Given the description of an element on the screen output the (x, y) to click on. 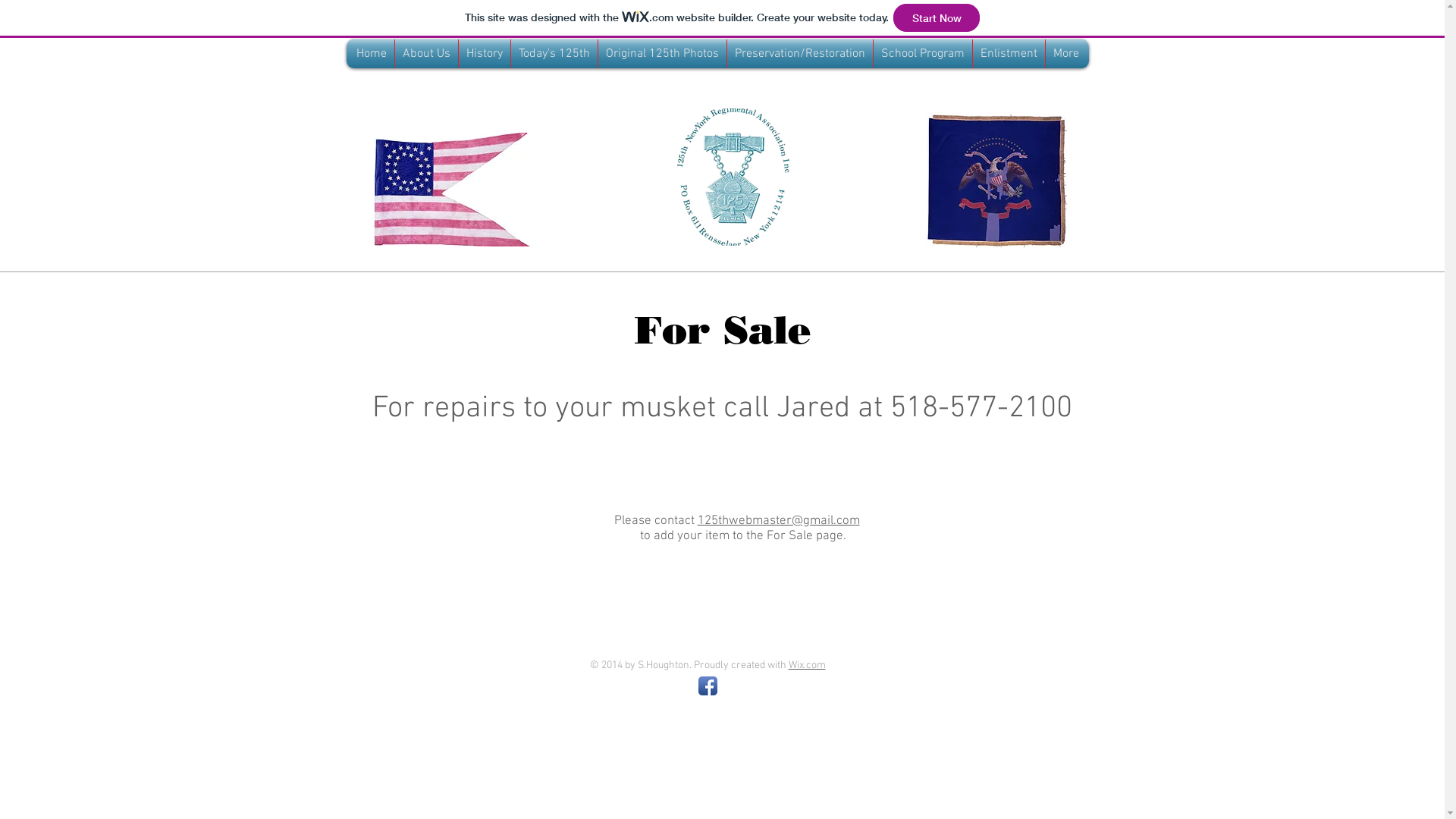
Wix.com Element type: text (806, 664)
History Element type: text (483, 53)
to add your item to the For Sale page.  Element type: text (744, 535)
Preservation/Restoration Element type: text (799, 53)
Enlistment Element type: text (1008, 53)
125thwebmaster@gmail.com Element type: text (778, 520)
  Element type: text (860, 520)
School Program Element type: text (922, 53)
Home Element type: text (371, 53)
Today's 125th Element type: text (554, 53)
Original 125th Photos Element type: text (661, 53)
About Us Element type: text (425, 53)
